Given the description of an element on the screen output the (x, y) to click on. 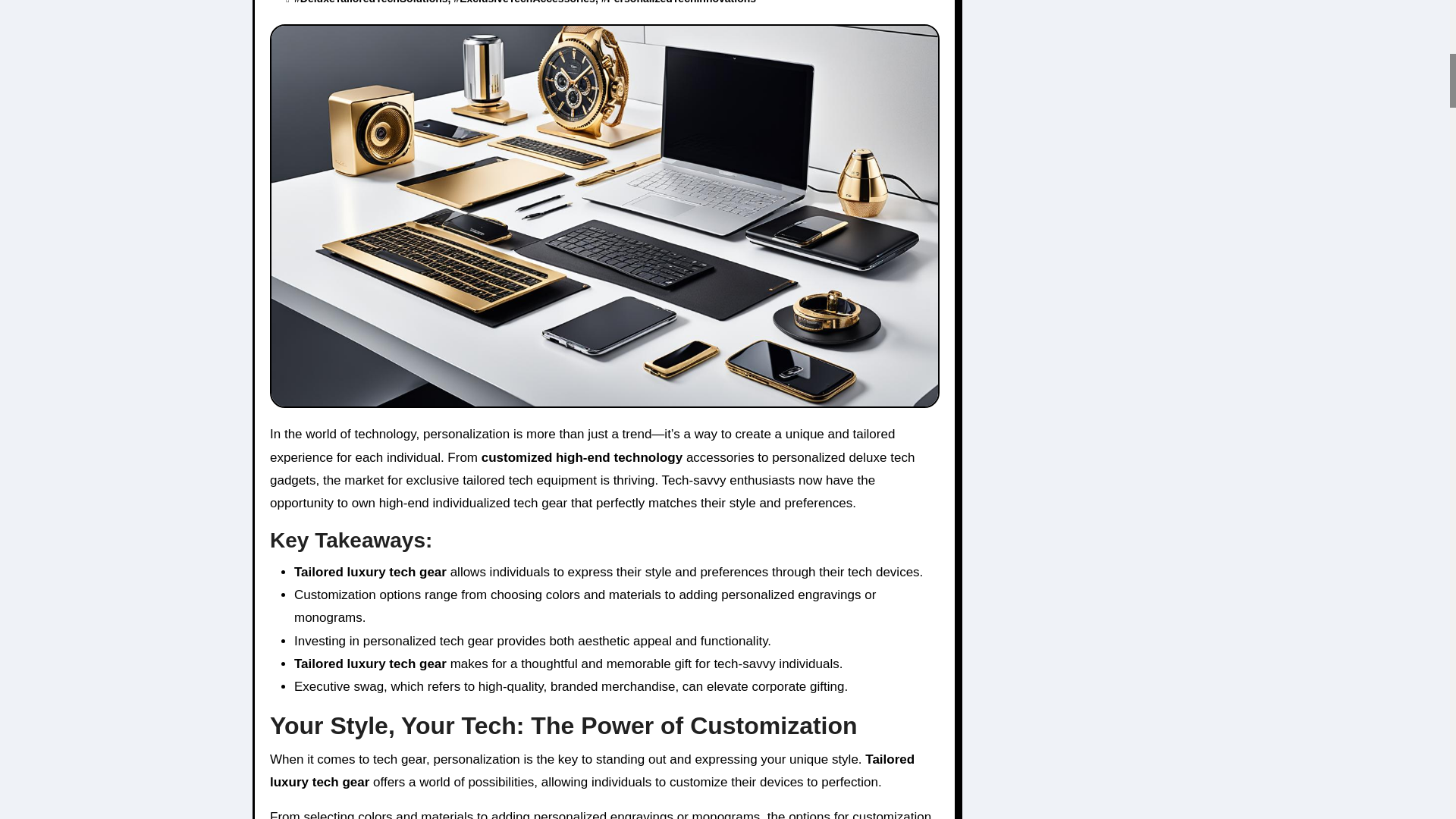
ExclusiveTechAccessories (527, 2)
DeluxeTailoredTechSolutions (373, 2)
PersonalizedTechInnovations (681, 2)
